Given the description of an element on the screen output the (x, y) to click on. 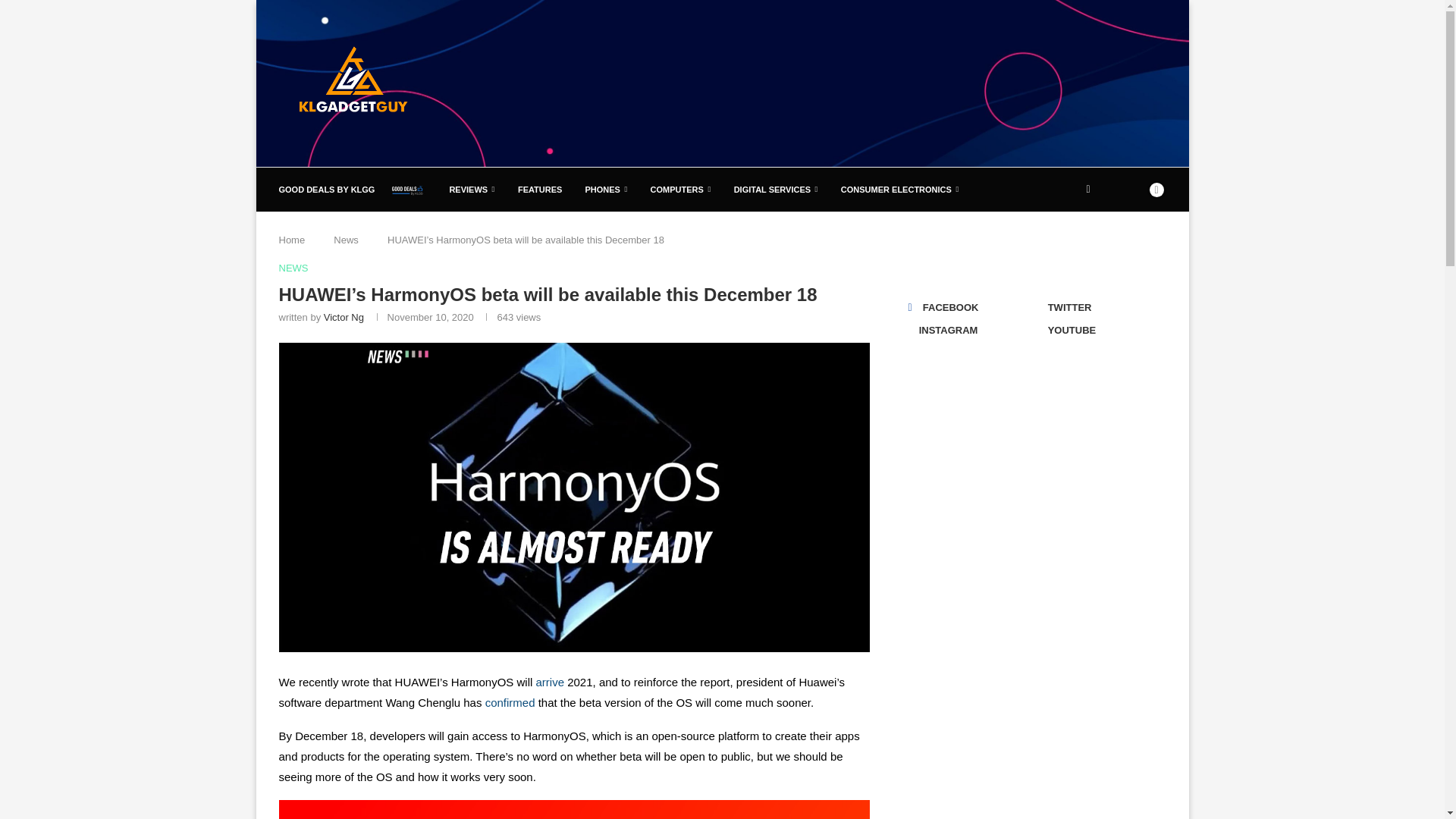
confirmed (509, 702)
FEATURES (540, 189)
DIGITAL SERVICES (775, 189)
GOOD DEALS BY KLGG (352, 189)
arrive (549, 681)
CONSUMER ELECTRONICS (900, 189)
REVIEWS (471, 189)
PHONES (606, 189)
COMPUTERS (680, 189)
